Given the description of an element on the screen output the (x, y) to click on. 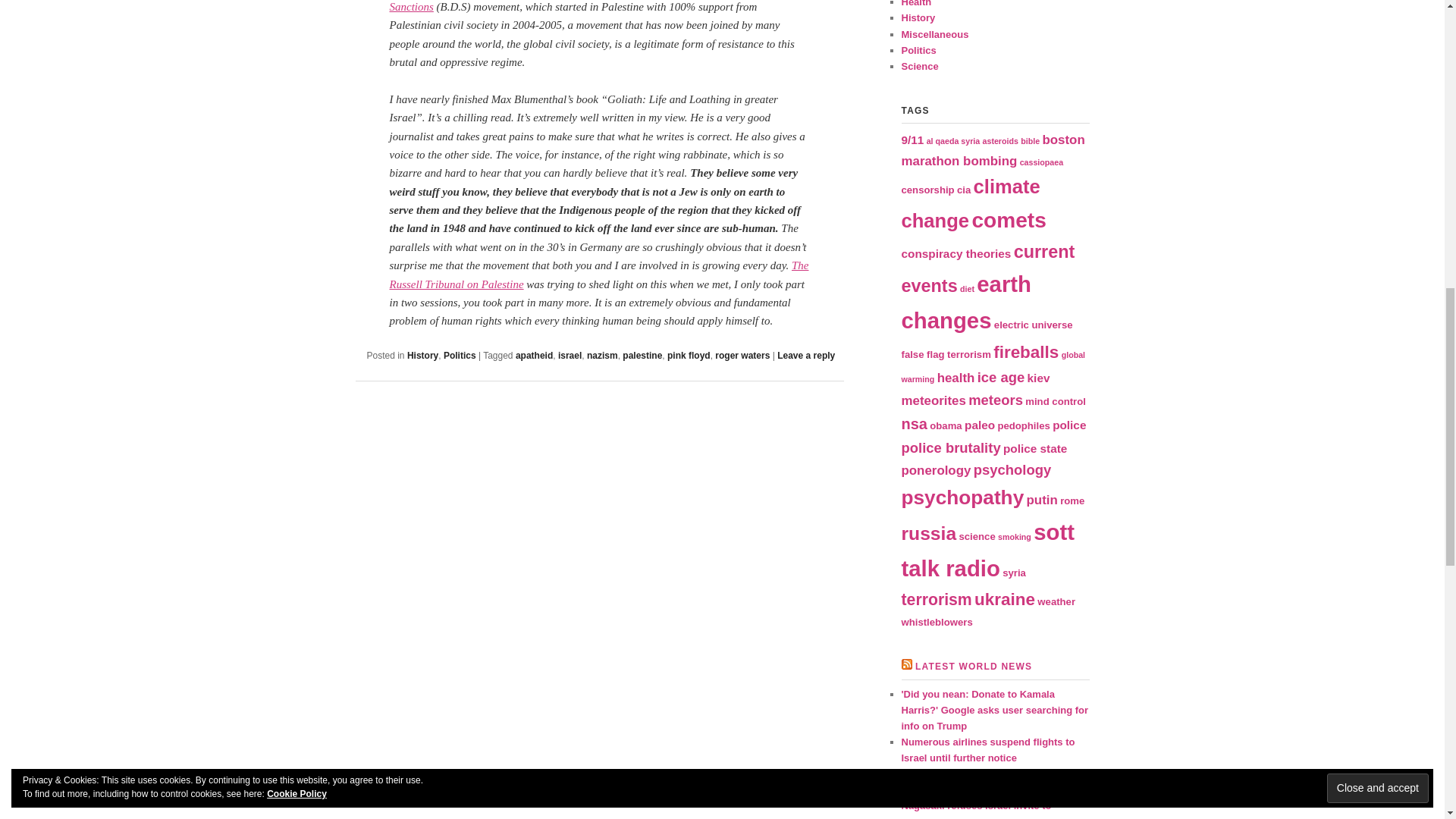
Boycott Divestment and Sanctions (587, 6)
Leave a reply (805, 355)
israel (568, 355)
apatheid (534, 355)
pink floyd (688, 355)
palestine (642, 355)
History (422, 355)
Politics (460, 355)
The Russell Tribunal on Palestine (599, 274)
roger waters (742, 355)
